Given the description of an element on the screen output the (x, y) to click on. 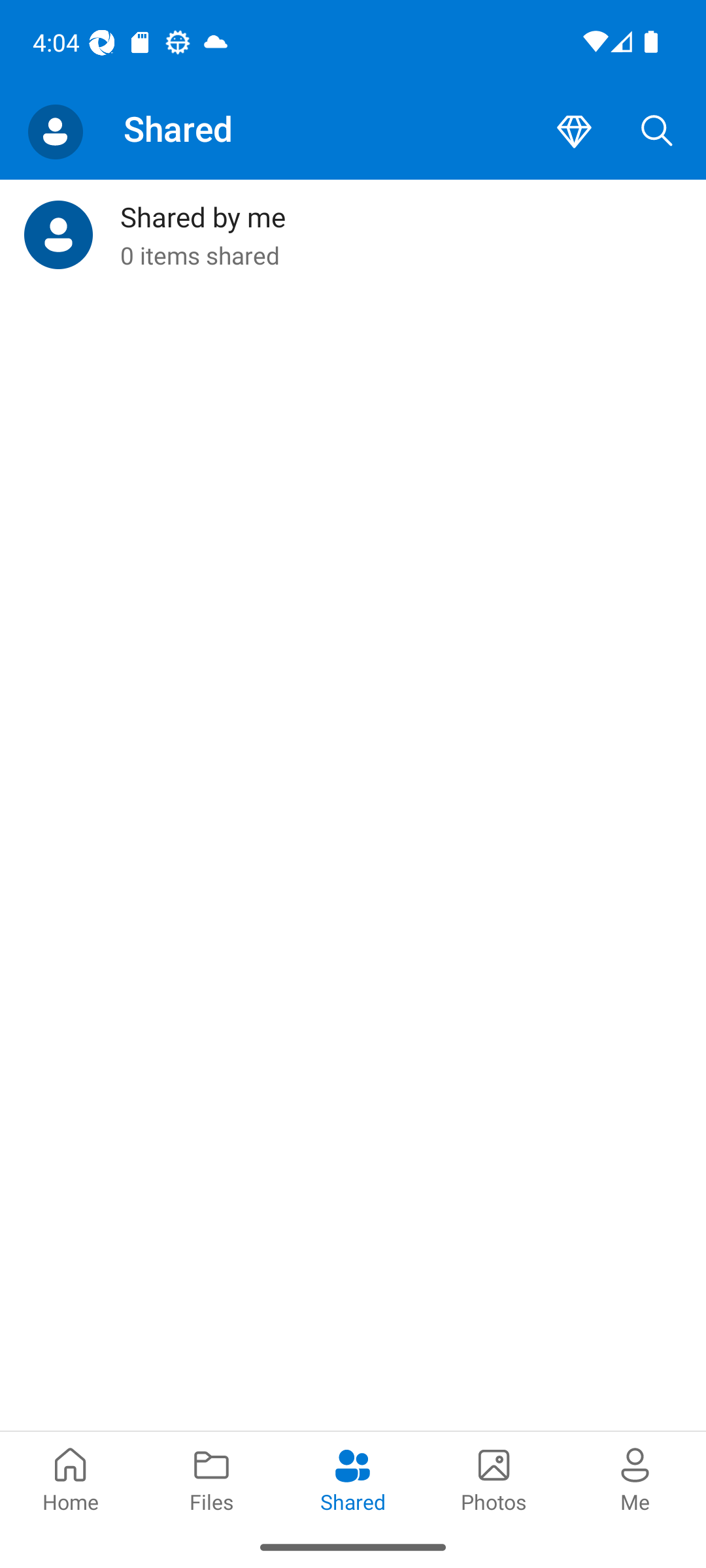
Account switcher (55, 131)
Premium button (574, 131)
Search button (656, 131)
0 Shared by me 0 items shared (353, 235)
Home pivot Home (70, 1478)
Files pivot Files (211, 1478)
Photos pivot Photos (493, 1478)
Me pivot Me (635, 1478)
